Given the description of an element on the screen output the (x, y) to click on. 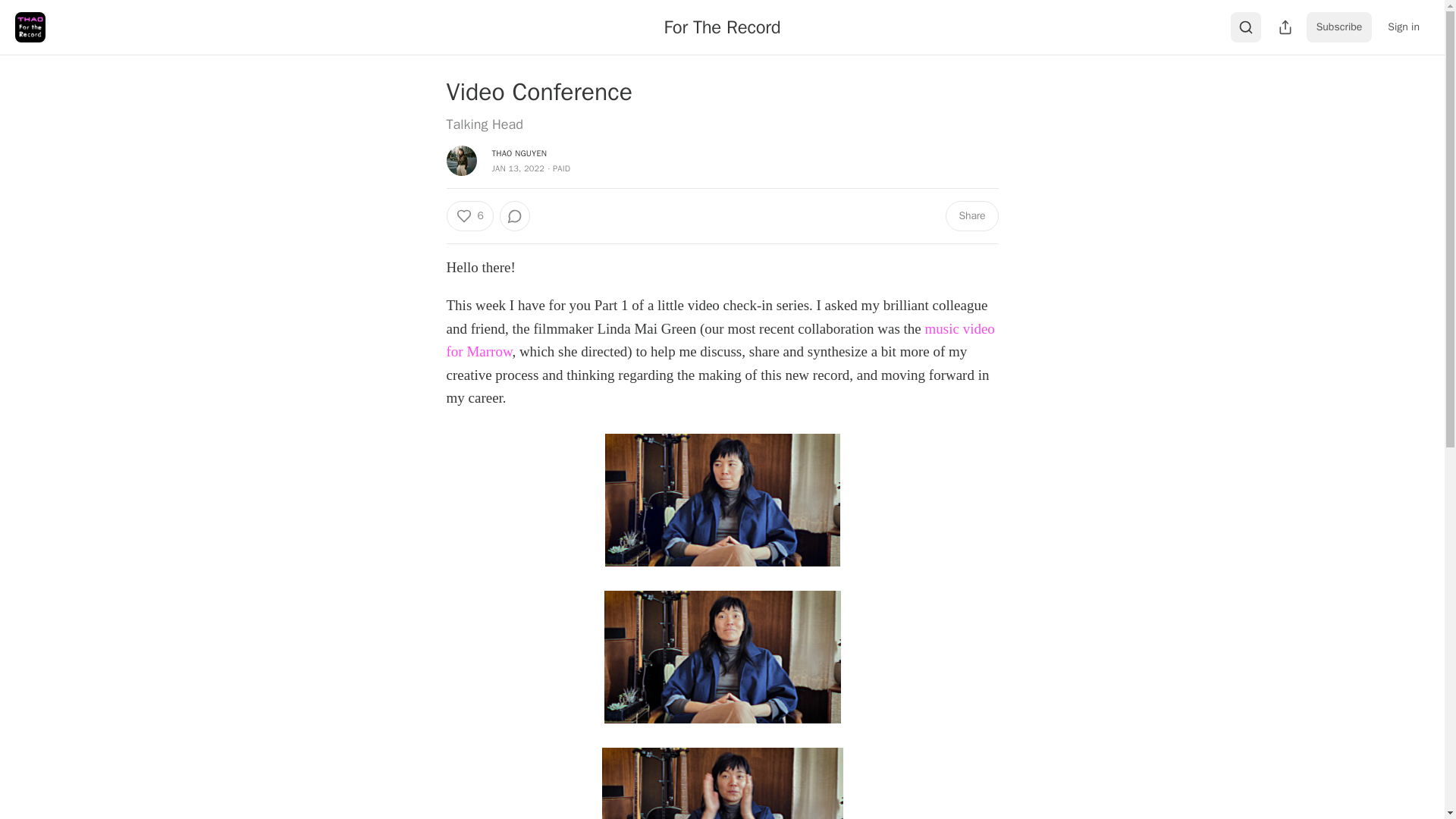
Share (970, 215)
For The Record (721, 26)
THAO NGUYEN (519, 153)
music video for Marrow (719, 340)
Sign in (1403, 27)
6 (469, 215)
Subscribe (1339, 27)
